Given the description of an element on the screen output the (x, y) to click on. 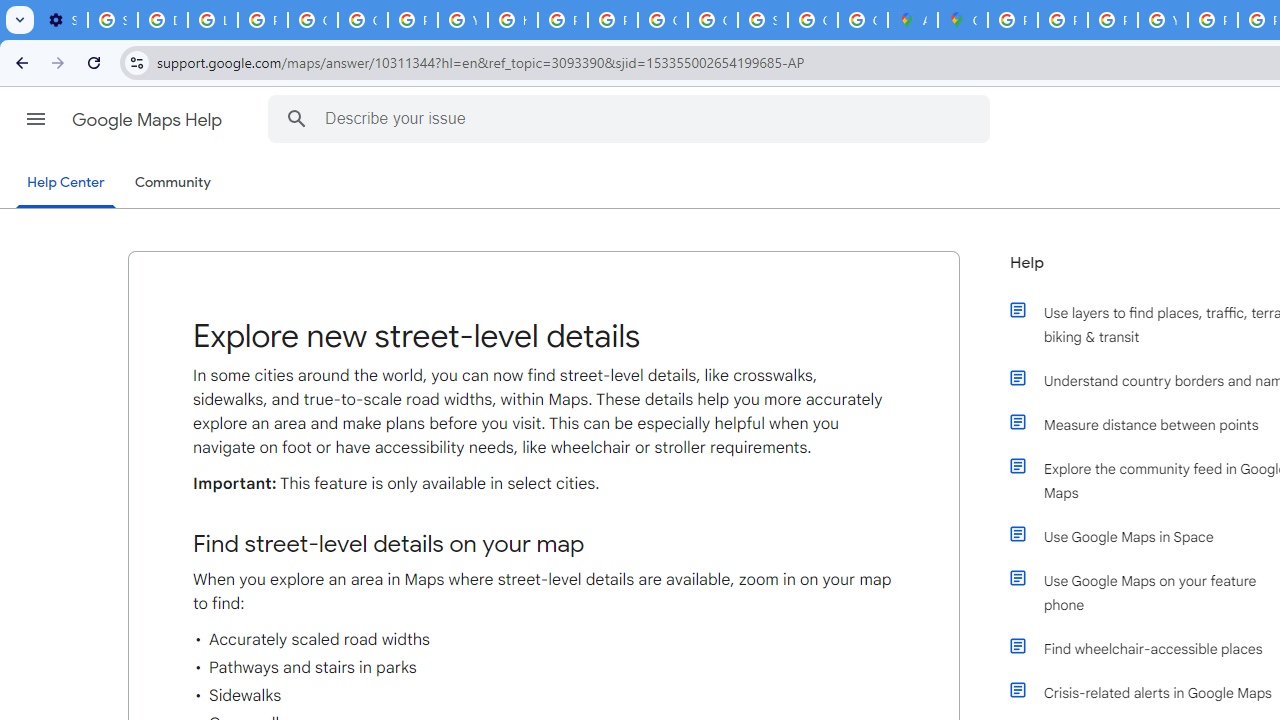
Sign in - Google Accounts (763, 20)
Search Help Center (297, 118)
Community (171, 183)
Create your Google Account (863, 20)
YouTube (462, 20)
Google Account Help (312, 20)
